Given the description of an element on the screen output the (x, y) to click on. 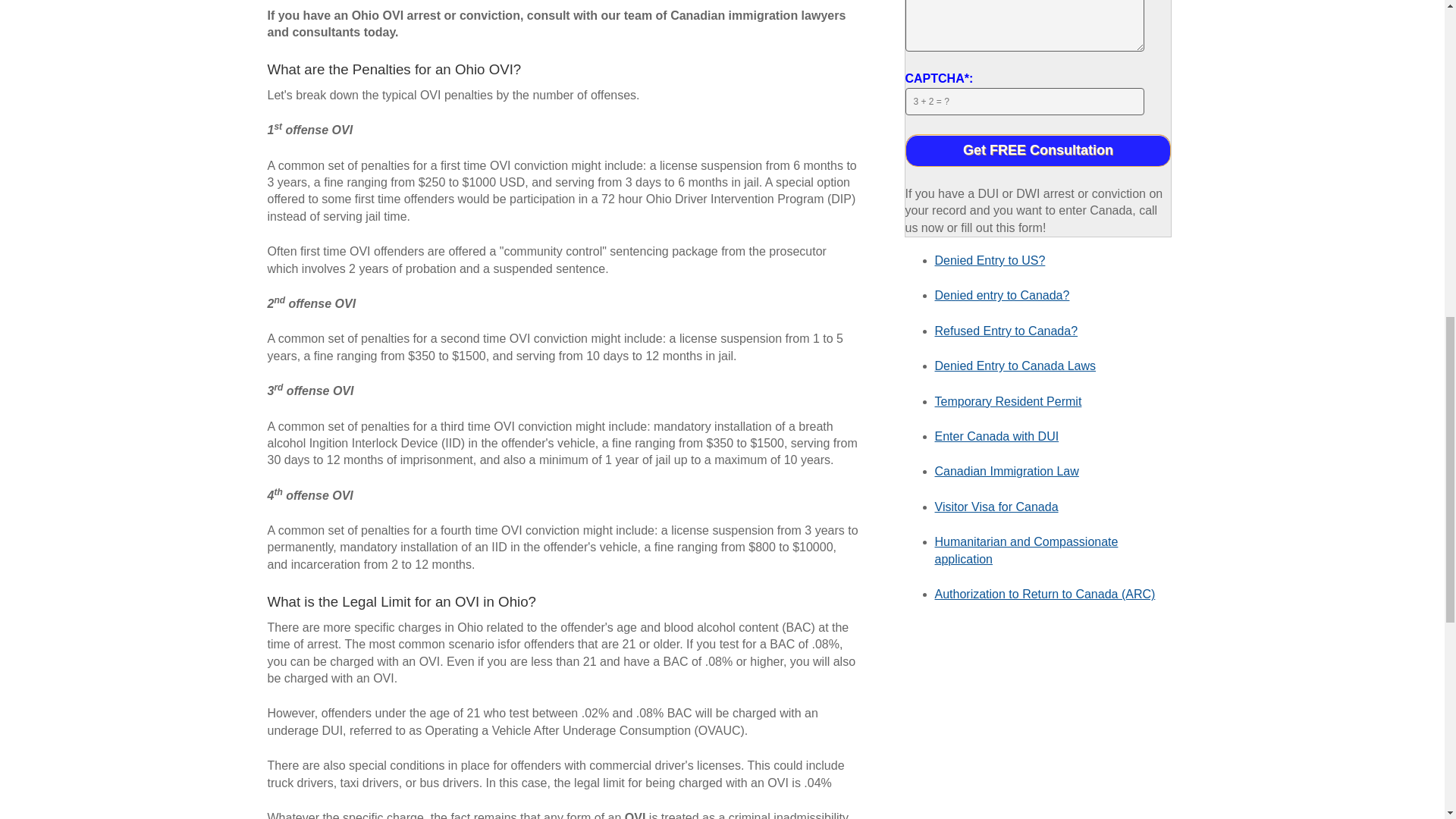
Denied Entry to Canada Laws (1015, 365)
Denied entry to Canada? (1001, 295)
Canadian Immigration Law (1006, 471)
Enter Canada with DUI (996, 436)
Visitor Visa for Canada (996, 506)
Refused Entry to Canada (1005, 330)
Get FREE Consultation (1038, 150)
Denied entry to Canada for DUI? (1001, 295)
Humanitarian and Compassionate application (1026, 550)
Denied Entry to US? (989, 259)
